Given the description of an element on the screen output the (x, y) to click on. 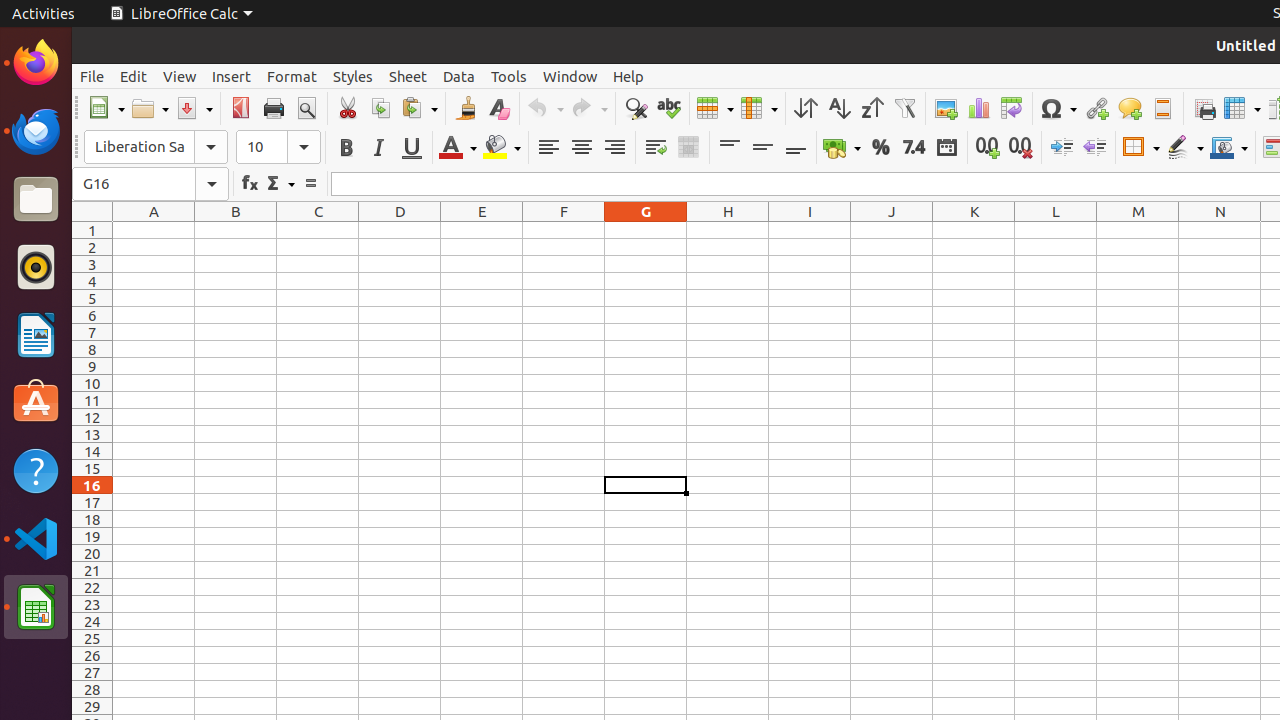
Open Element type: push-button (150, 108)
Name Box Element type: combo-box (150, 184)
Function Wizard Element type: push-button (249, 183)
Copy Element type: push-button (380, 108)
Ubuntu Software Element type: push-button (36, 402)
